Given the description of an element on the screen output the (x, y) to click on. 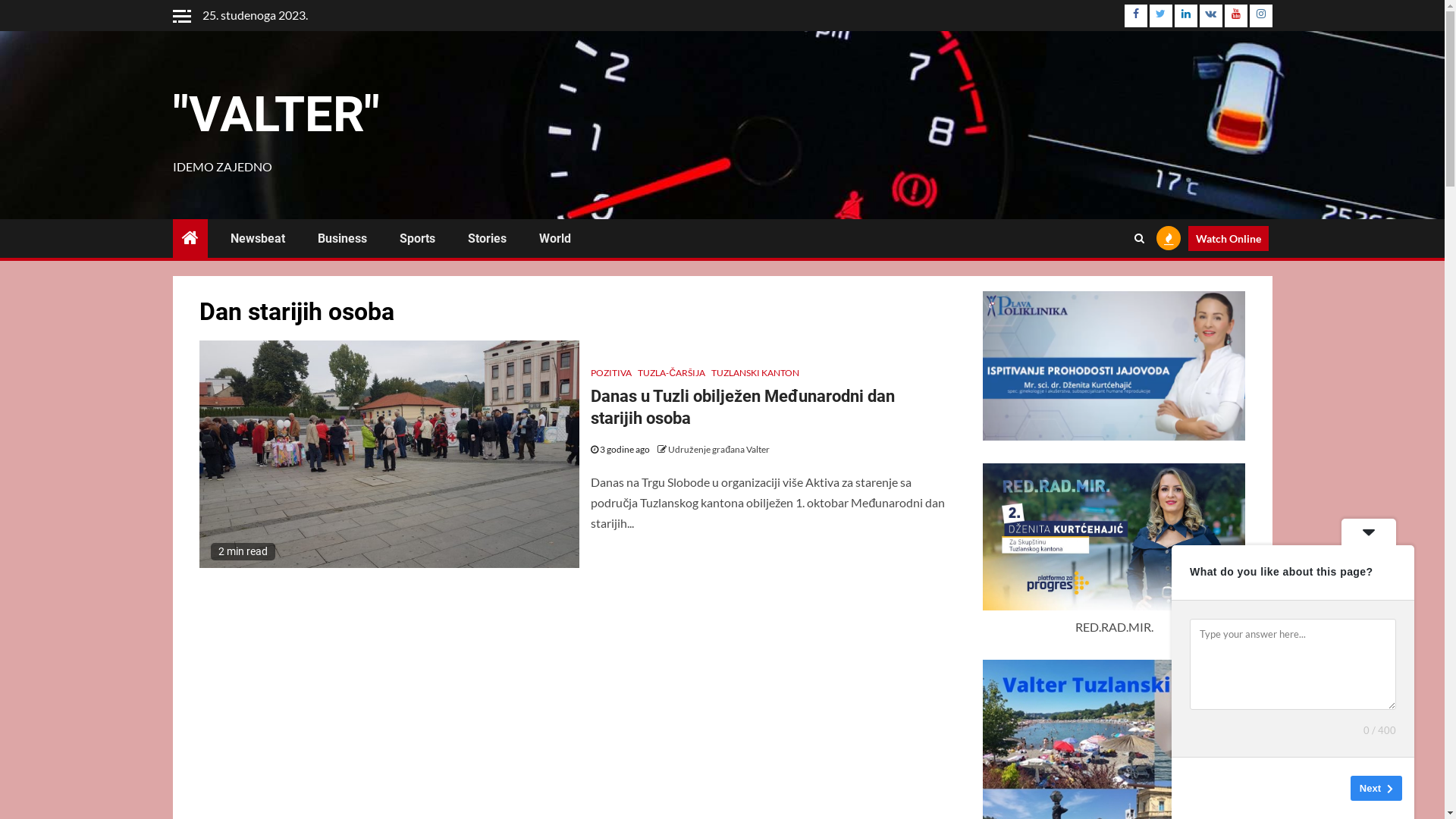
Stories Element type: text (486, 238)
Facebook Element type: text (1134, 15)
Business Element type: text (341, 238)
Instagram Element type: text (1260, 15)
Twitter Element type: text (1160, 15)
"VALTER" Element type: text (275, 114)
TUZLANSKI KANTON Element type: text (755, 372)
Linkedin Element type: text (1184, 15)
VK Element type: text (1210, 15)
Next Element type: text (1376, 787)
Youtube Element type: text (1234, 15)
POZITIVA Element type: text (610, 372)
Watch Online Element type: text (1227, 238)
World Element type: text (554, 238)
Sports Element type: text (416, 238)
Newsbeat Element type: text (257, 238)
Search Element type: hover (1138, 237)
